Given the description of an element on the screen output the (x, y) to click on. 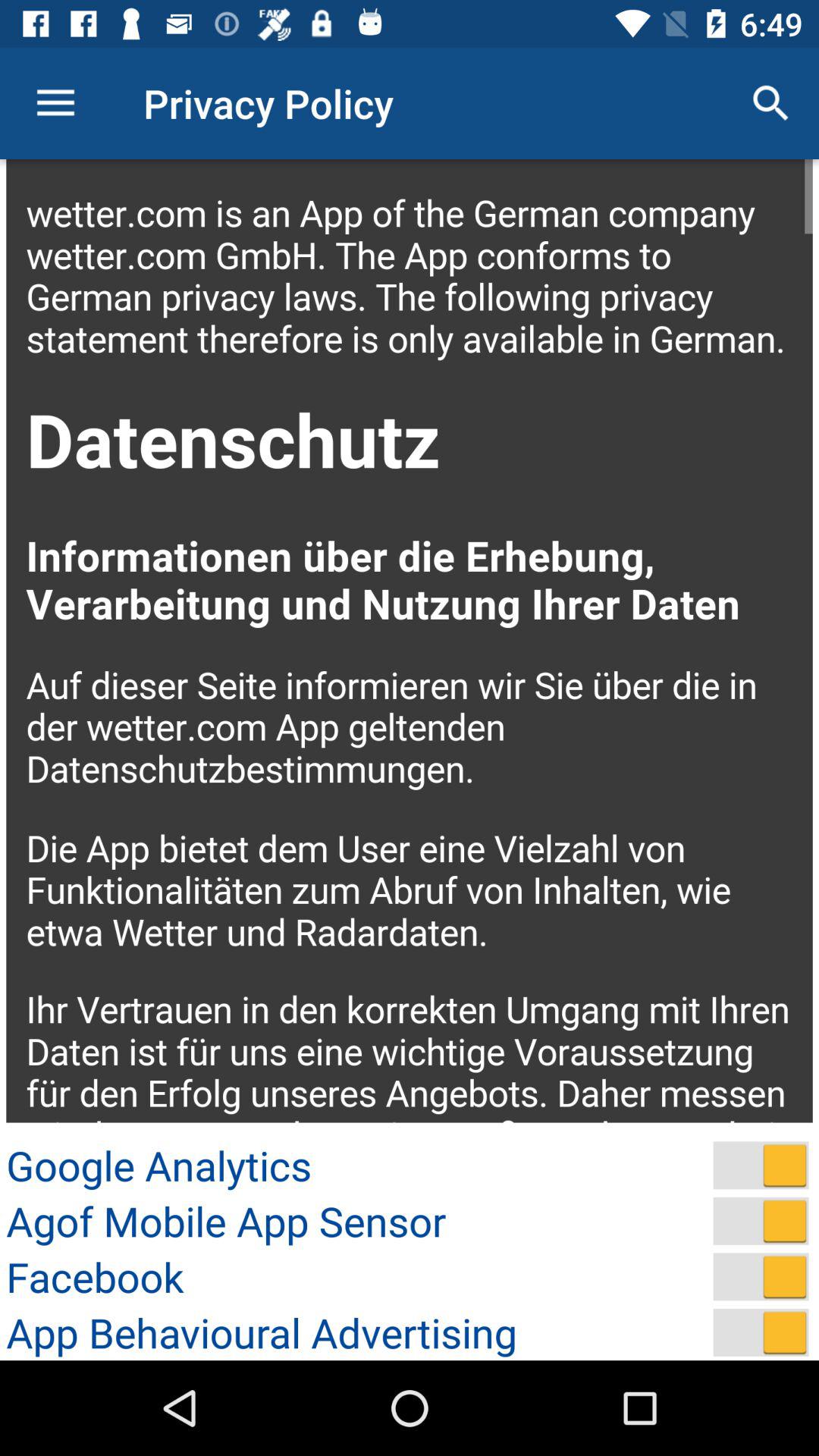
click the add (760, 1332)
